Given the description of an element on the screen output the (x, y) to click on. 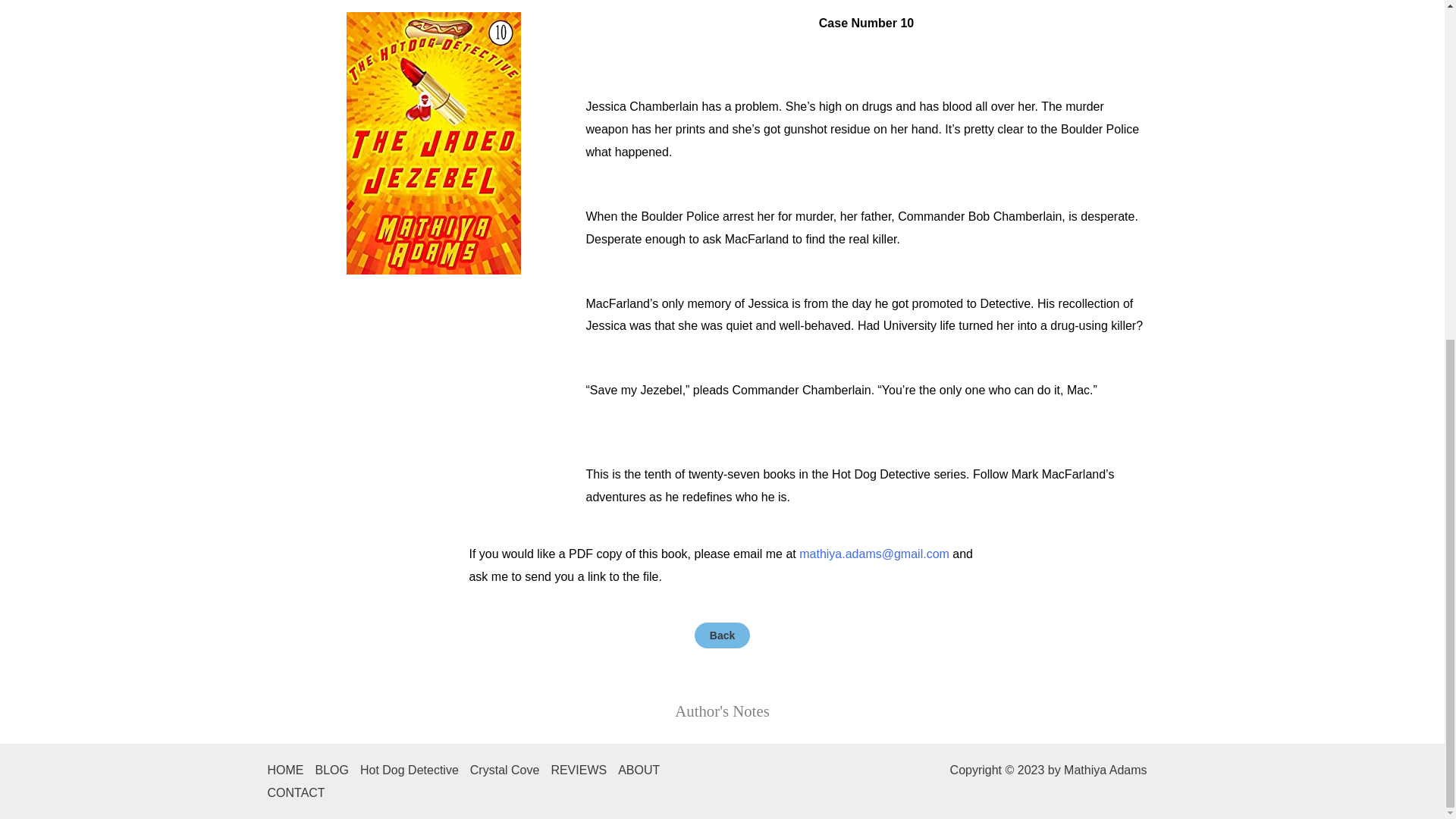
Hot Dog Detective (414, 770)
Back (721, 635)
HOME (290, 770)
REVIEWS (583, 770)
BLOG (337, 770)
ABOUT (644, 770)
Crystal Cove (510, 770)
CONTACT (301, 793)
